Given the description of an element on the screen output the (x, y) to click on. 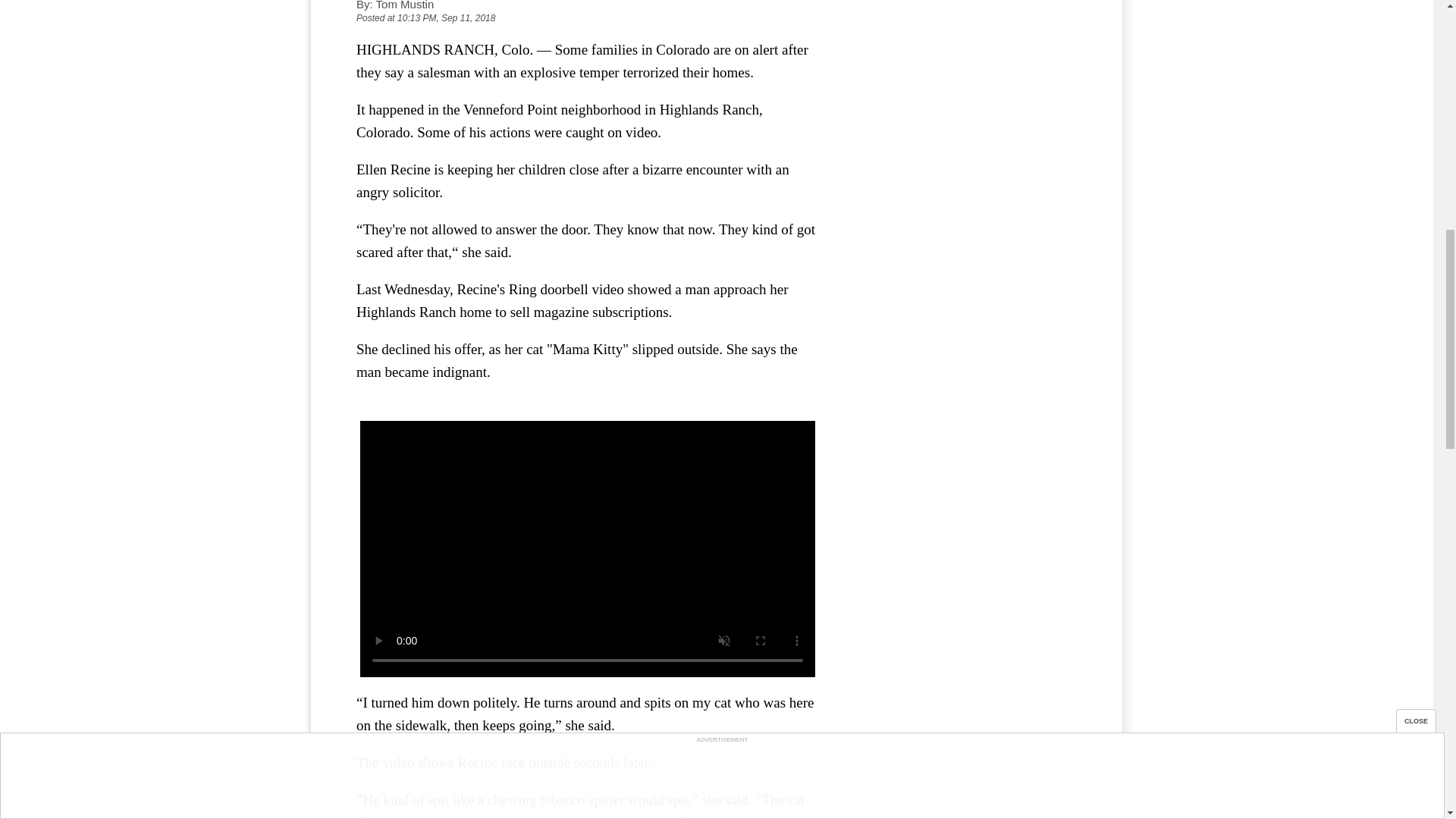
3rd party ad content (962, 93)
